Given the description of an element on the screen output the (x, y) to click on. 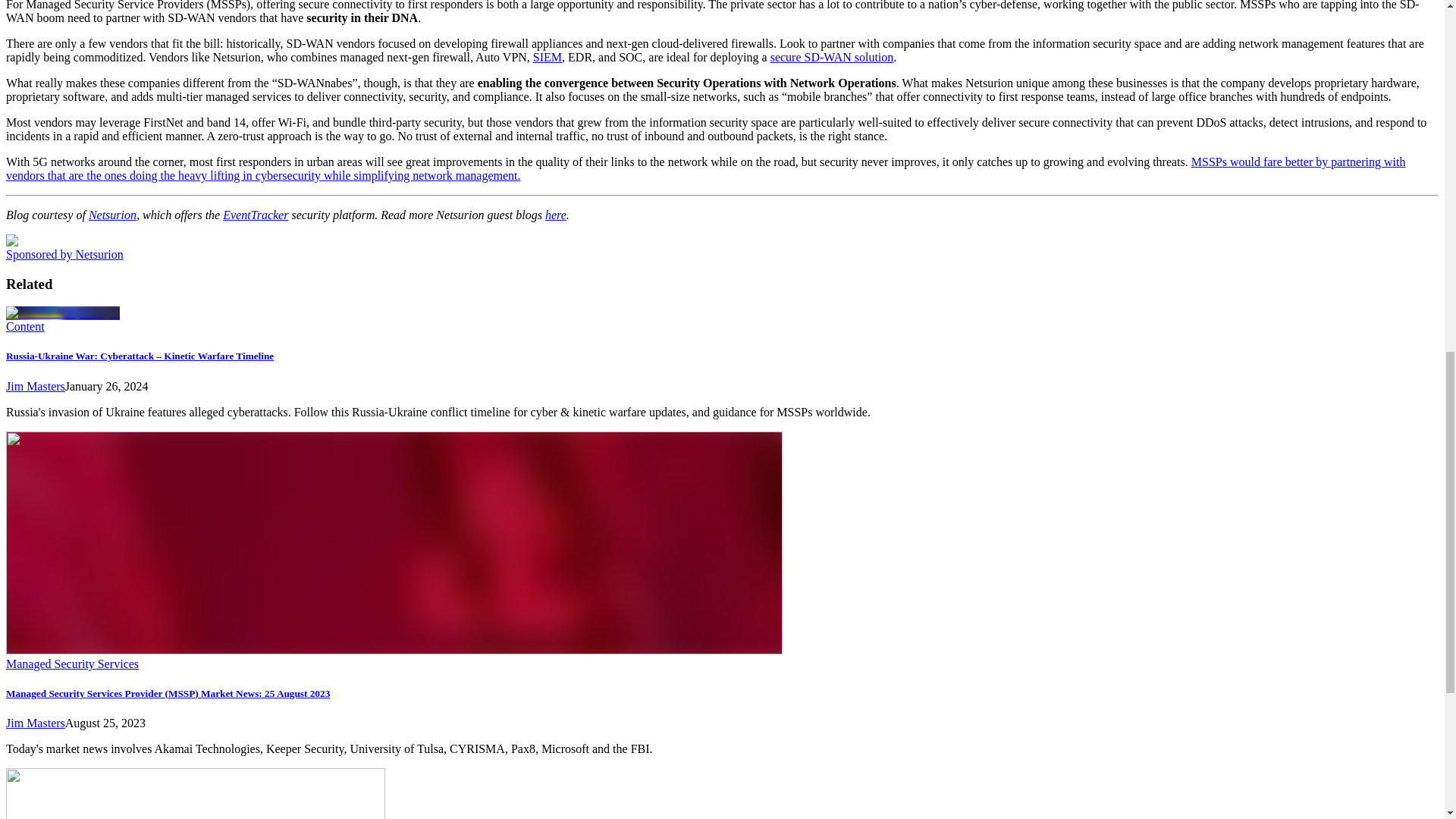
Managed Security Services (71, 663)
Jim Masters (35, 722)
Content (25, 326)
Sponsored by Netsurion (64, 254)
secure SD-WAN solution (831, 56)
EventTracker (255, 214)
Netsurion (112, 214)
SIEM (547, 56)
Jim Masters (35, 386)
here (555, 214)
